Given the description of an element on the screen output the (x, y) to click on. 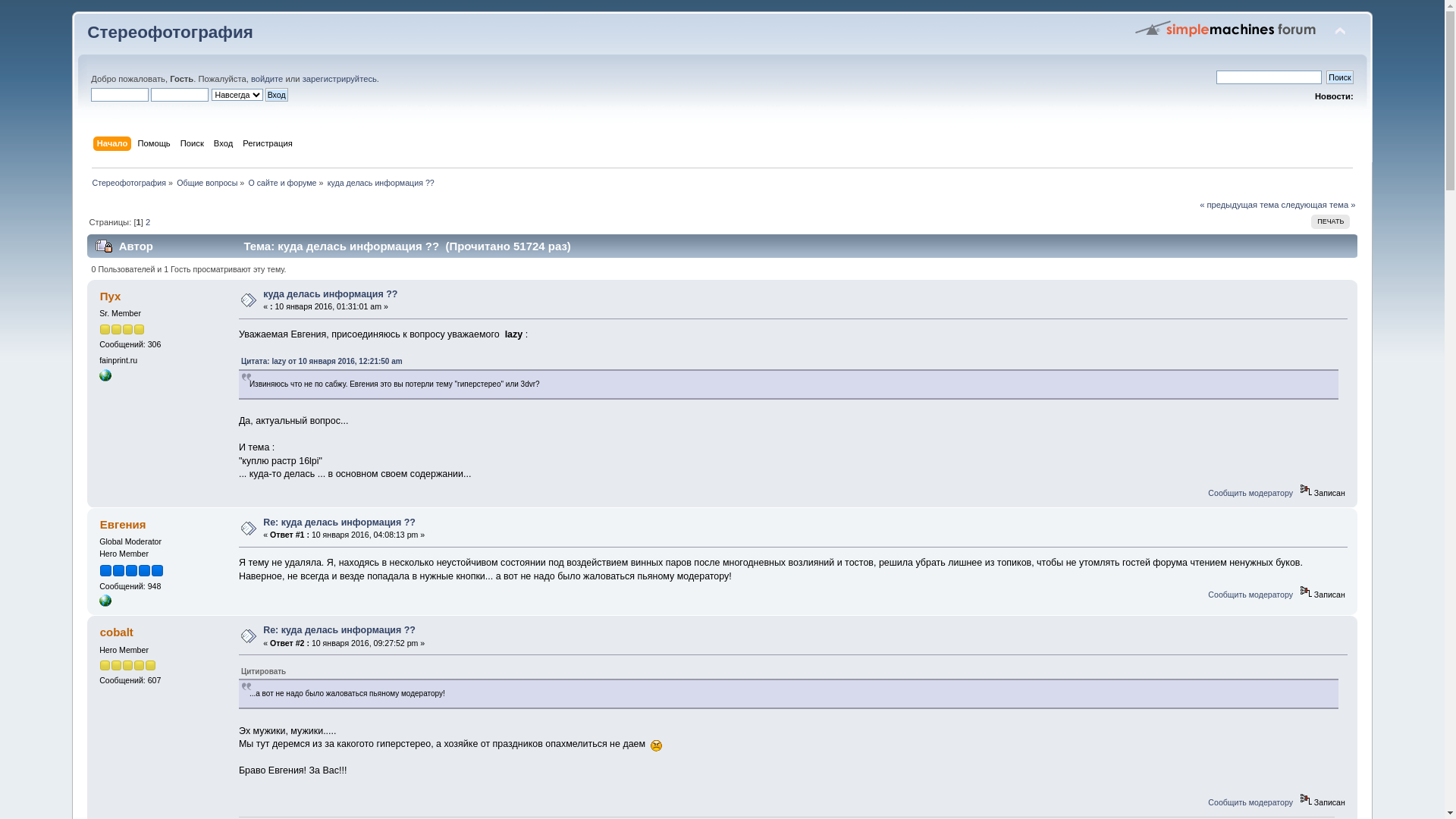
cobalt Element type: text (116, 631)
Simple Machines Forum Element type: hover (1226, 27)
Angry Element type: hover (656, 745)
2 Element type: text (147, 221)
